Given the description of an element on the screen output the (x, y) to click on. 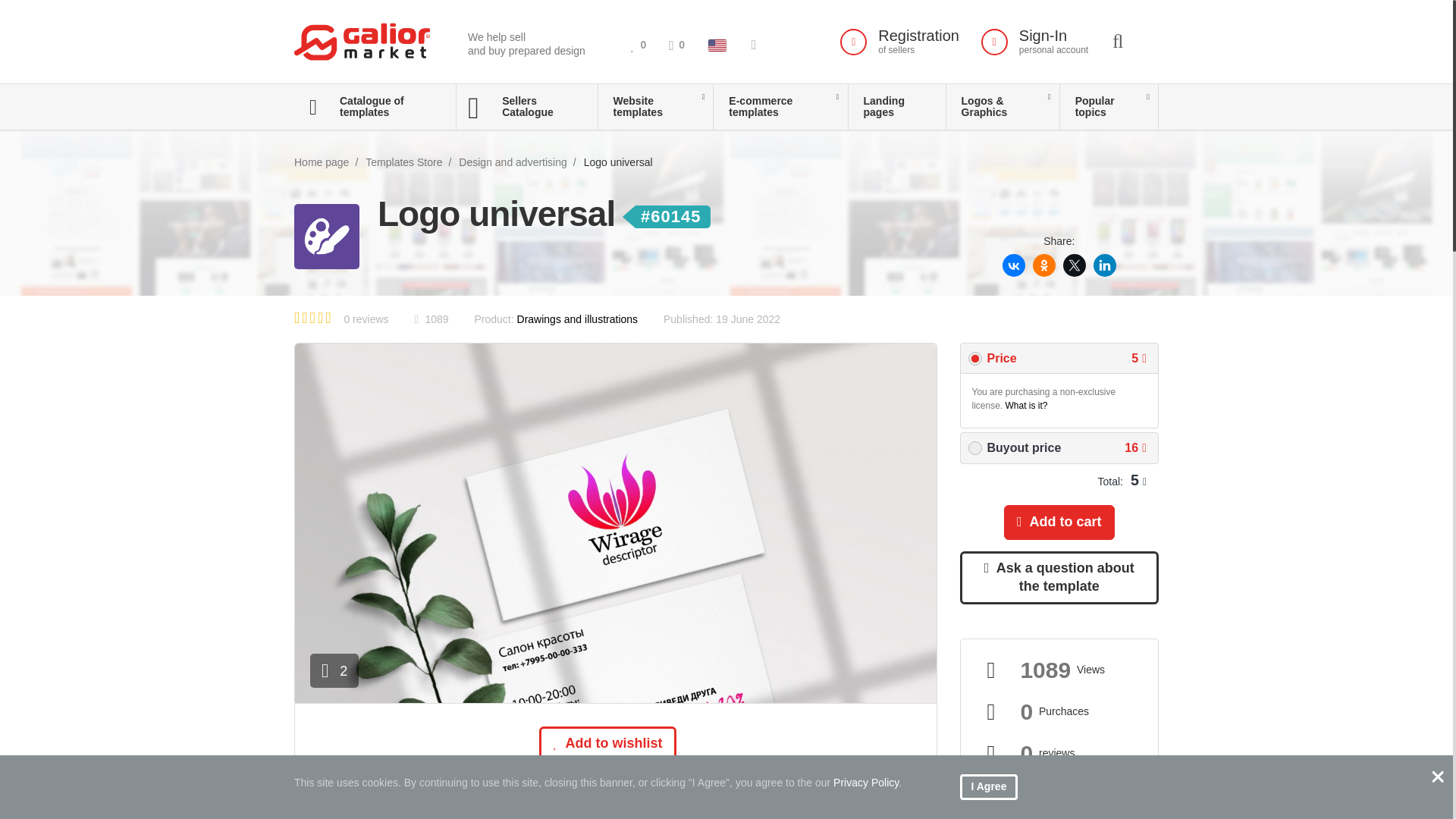
Website templates (655, 106)
E-commerce templates (780, 106)
Catalogue of templates (374, 106)
Logo universal (899, 41)
0 (677, 44)
Twitter (638, 44)
LinkedIn (1074, 264)
Sellers Catalogue (1104, 264)
